Given the description of an element on the screen output the (x, y) to click on. 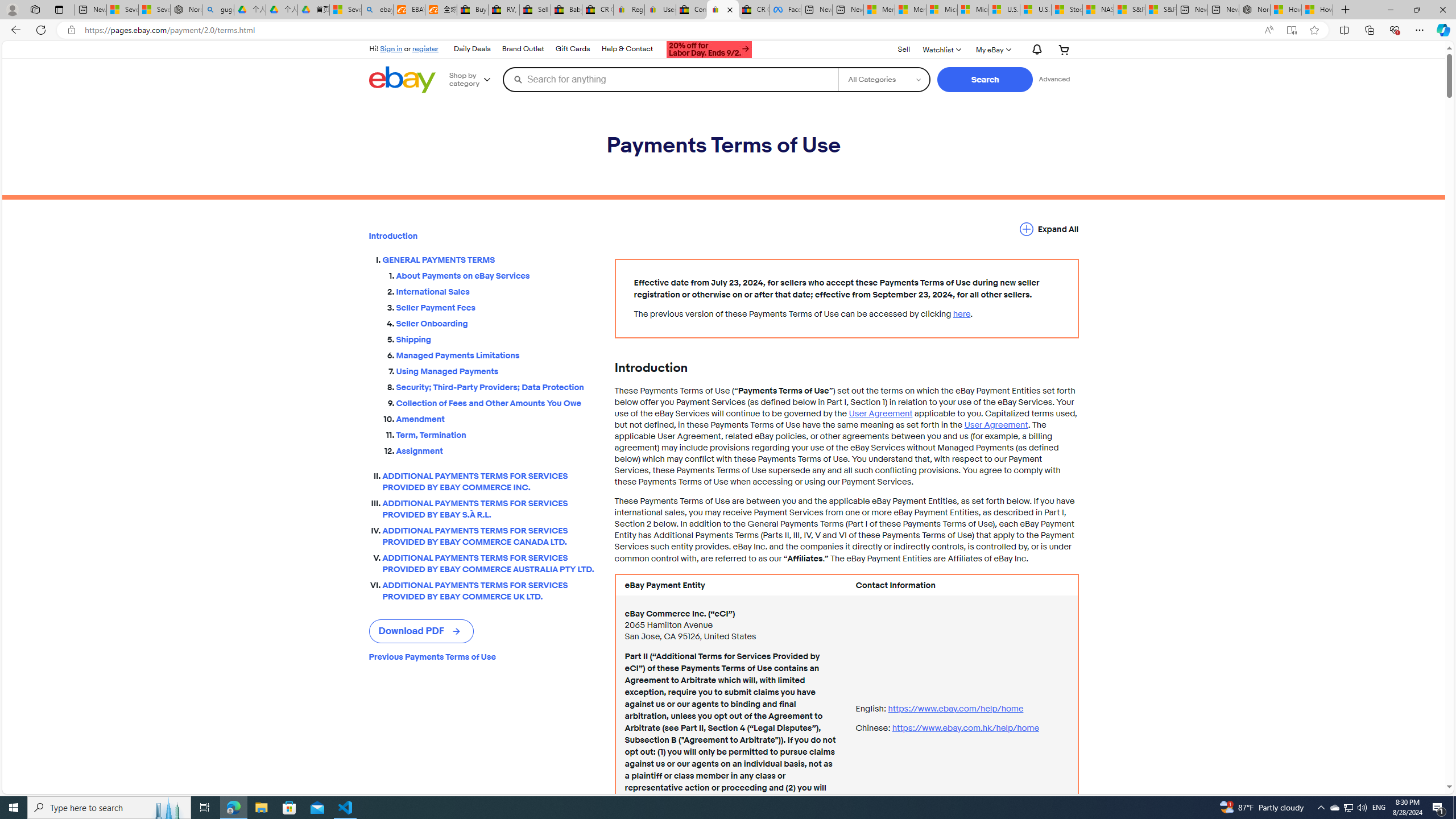
Collection of Fees and Other Amounts You Owe (496, 401)
Consumer Health Data Privacy Policy - eBay Inc. (691, 9)
Get the coupon now (709, 50)
Amendment (496, 416)
here (961, 314)
Brand Outlet (523, 49)
Seller Onboarding (496, 323)
